Given the description of an element on the screen output the (x, y) to click on. 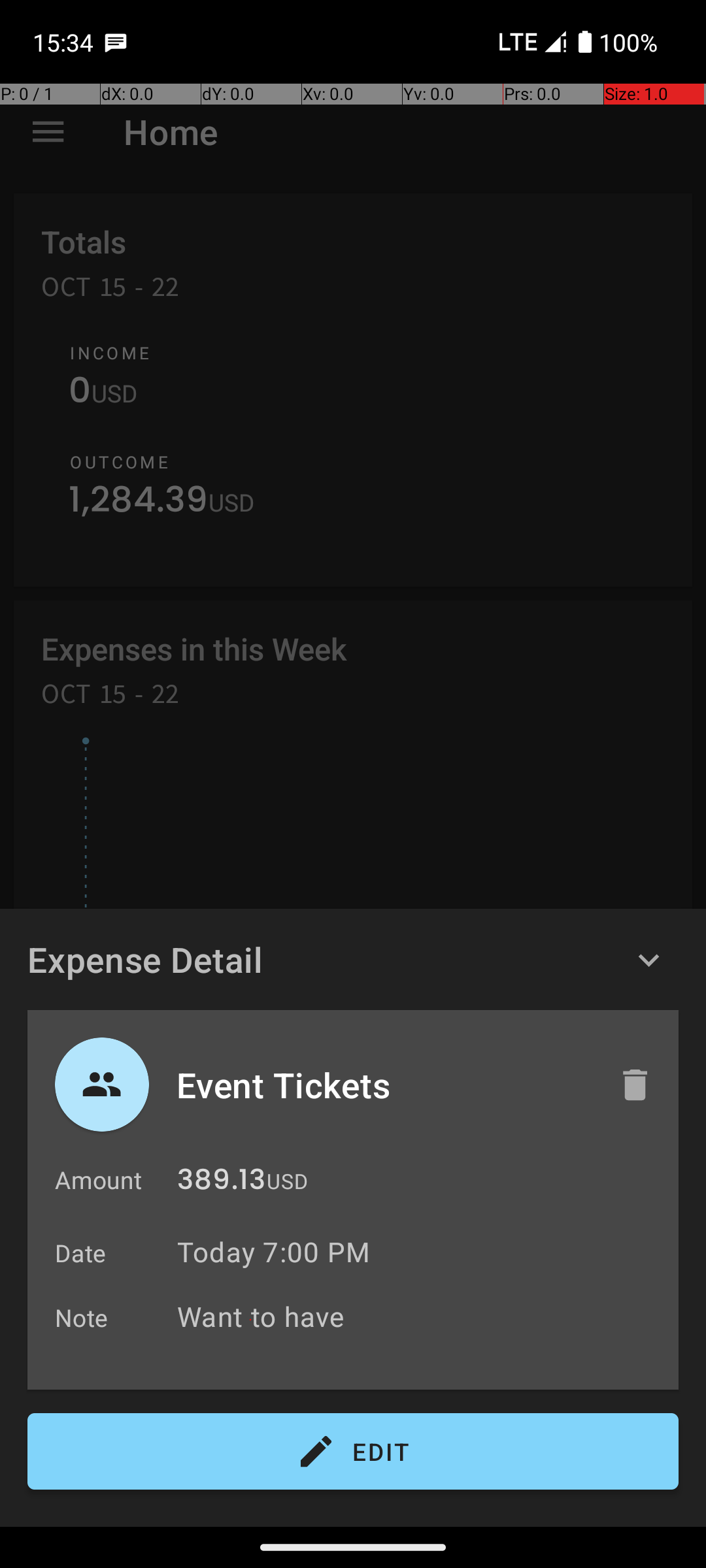
Event Tickets Element type: android.widget.TextView (383, 1084)
389.13 Element type: android.widget.TextView (221, 1182)
